Given the description of an element on the screen output the (x, y) to click on. 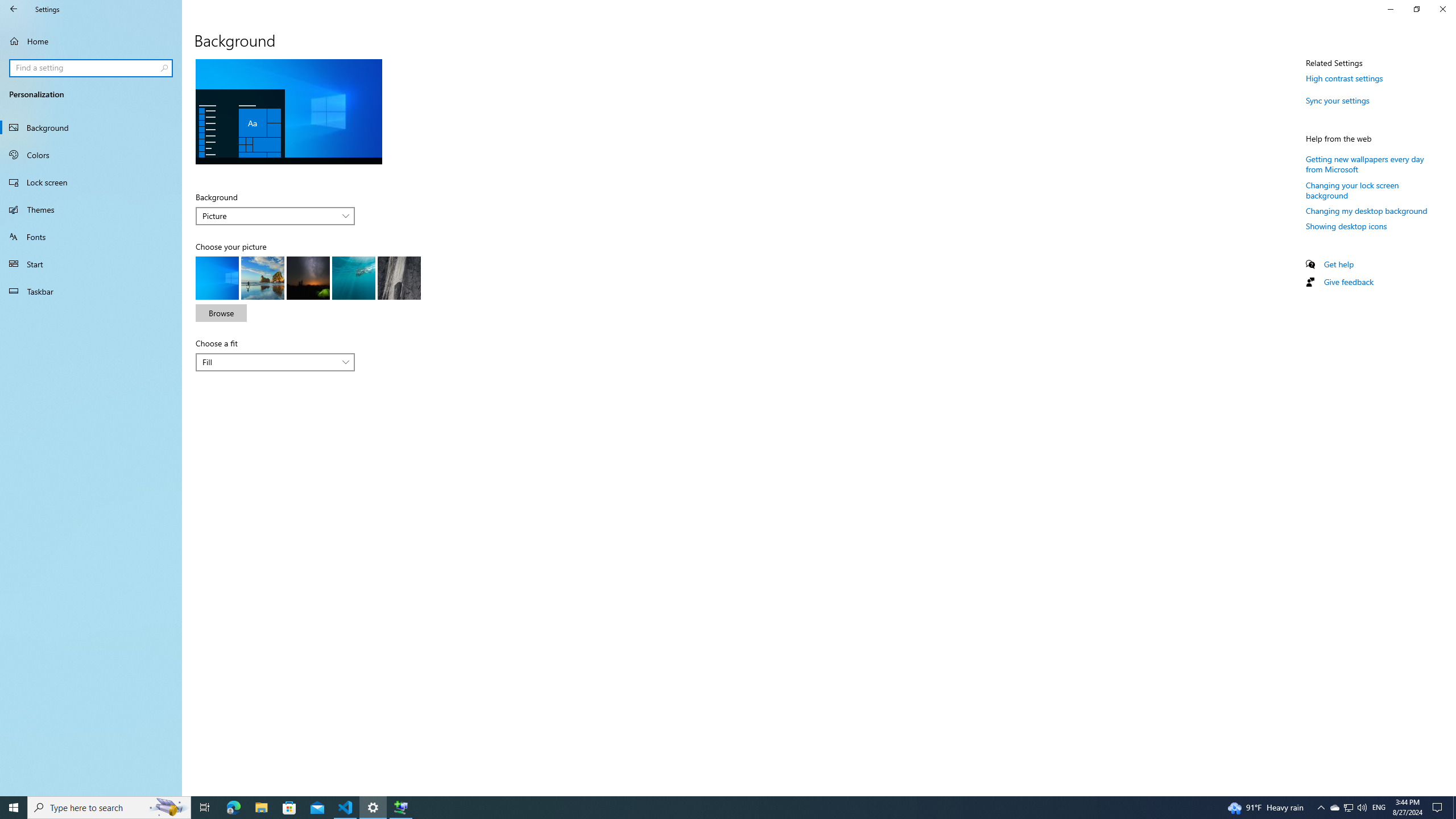
Picture (269, 215)
Changing your lock screen background (1352, 189)
Themes (91, 208)
Taskbar (91, 290)
Sync your settings (1338, 100)
Background (275, 216)
